Given the description of an element on the screen output the (x, y) to click on. 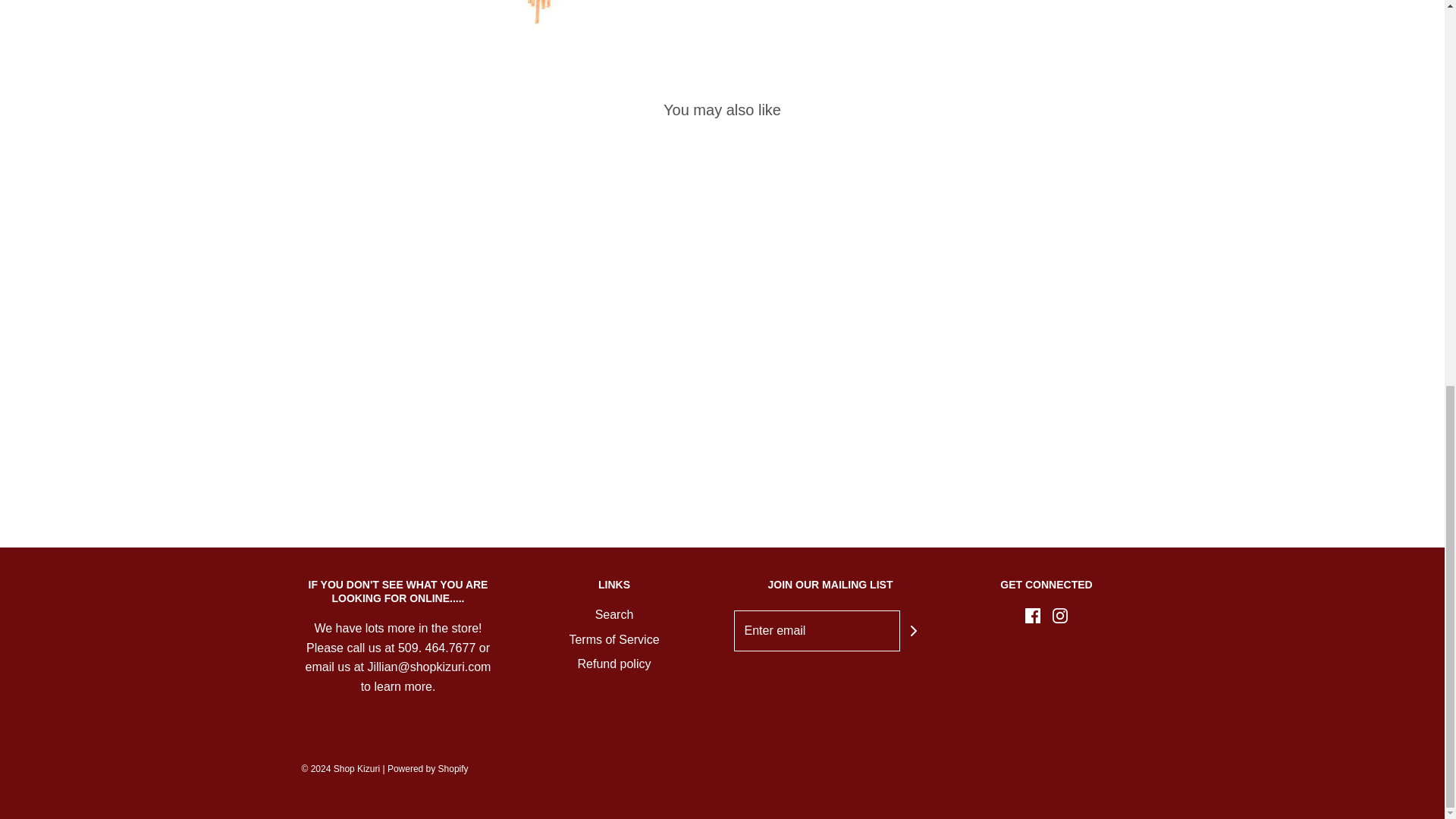
Facebook icon (1033, 615)
Instagram icon (1059, 615)
